Given the description of an element on the screen output the (x, y) to click on. 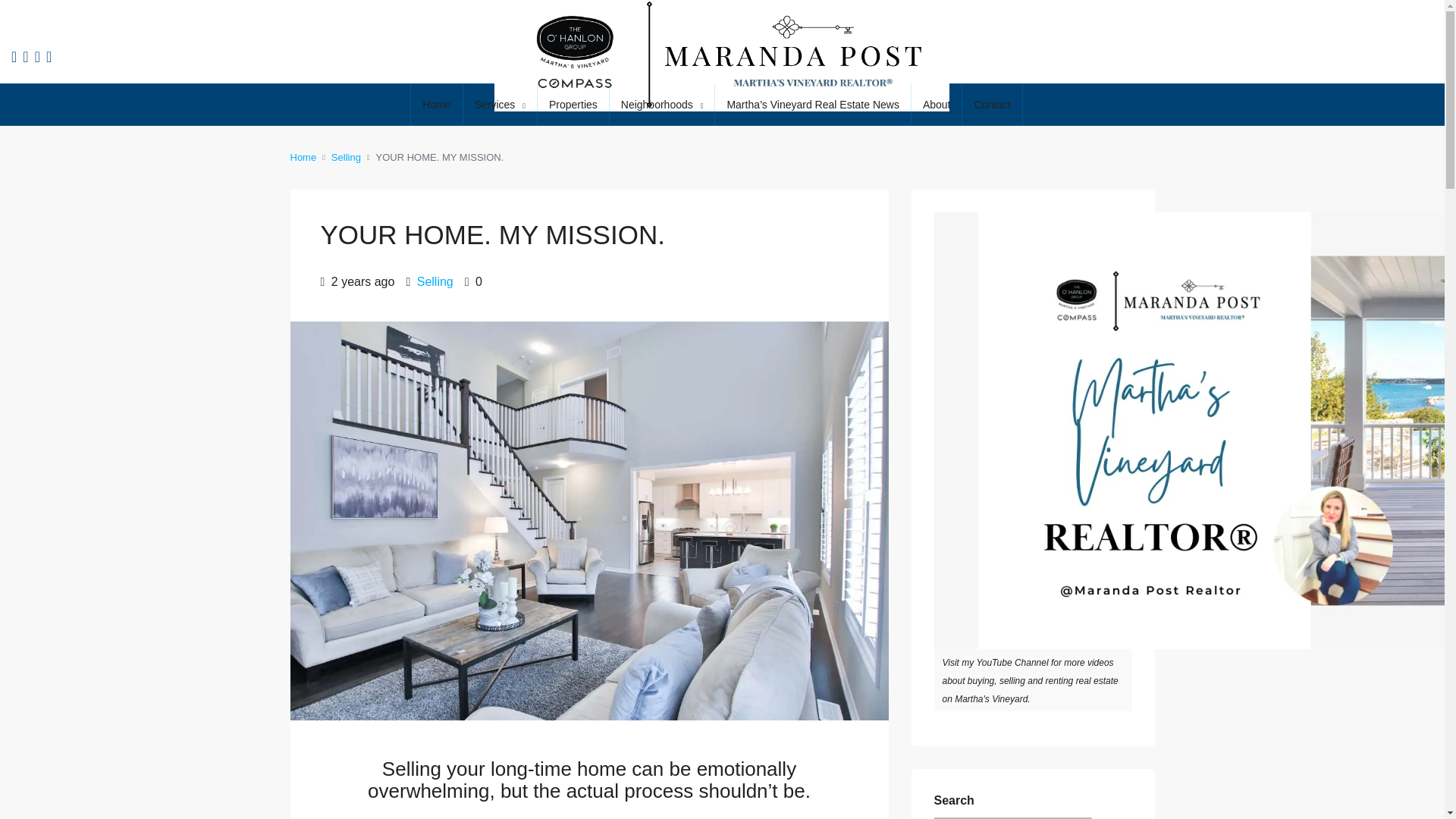
Contact (992, 104)
Properties (572, 104)
Neighborhoods (662, 105)
Services (500, 105)
About (936, 104)
Home (435, 104)
